Given the description of an element on the screen output the (x, y) to click on. 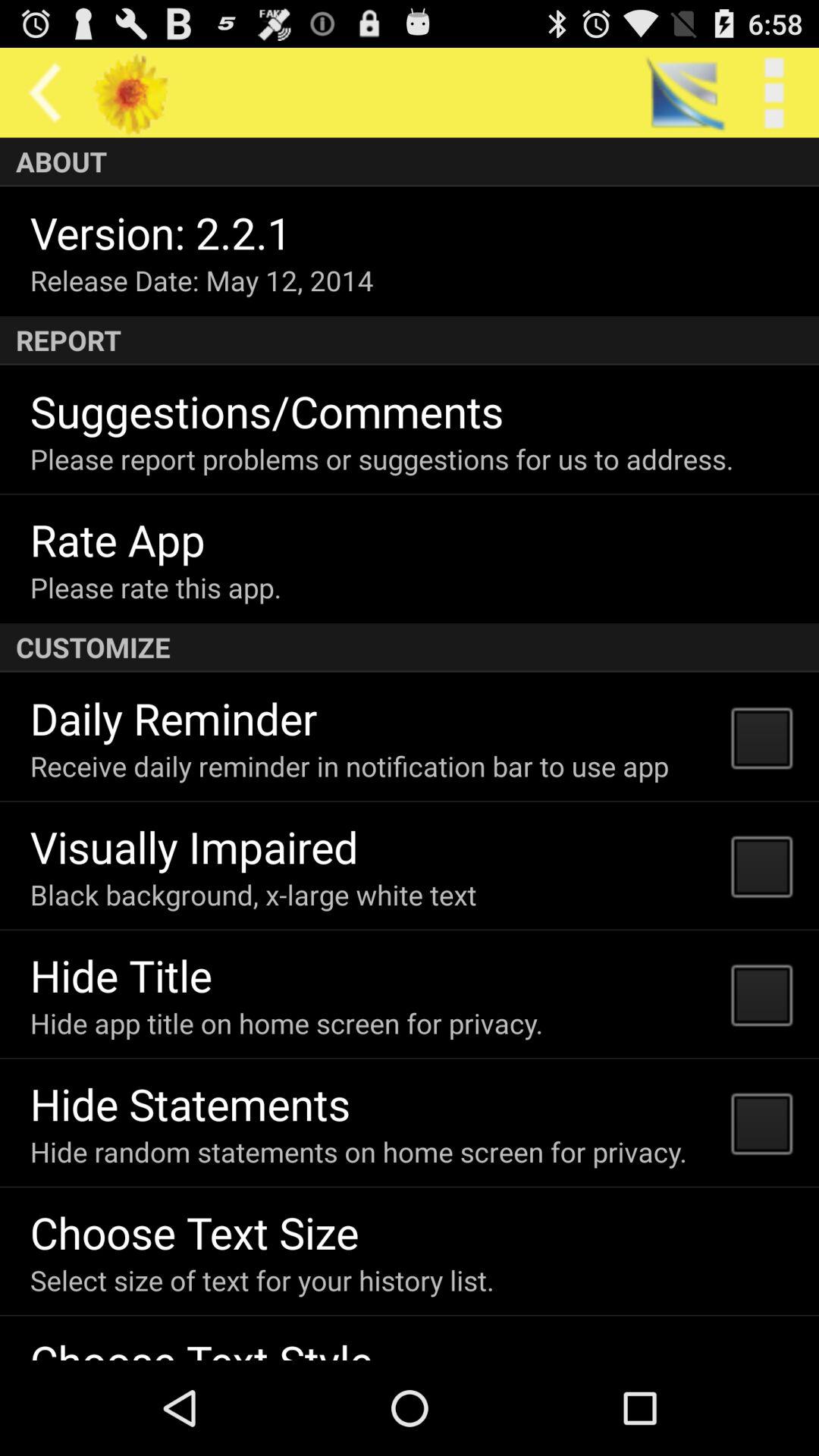
turn off app below choose text size app (262, 1280)
